Given the description of an element on the screen output the (x, y) to click on. 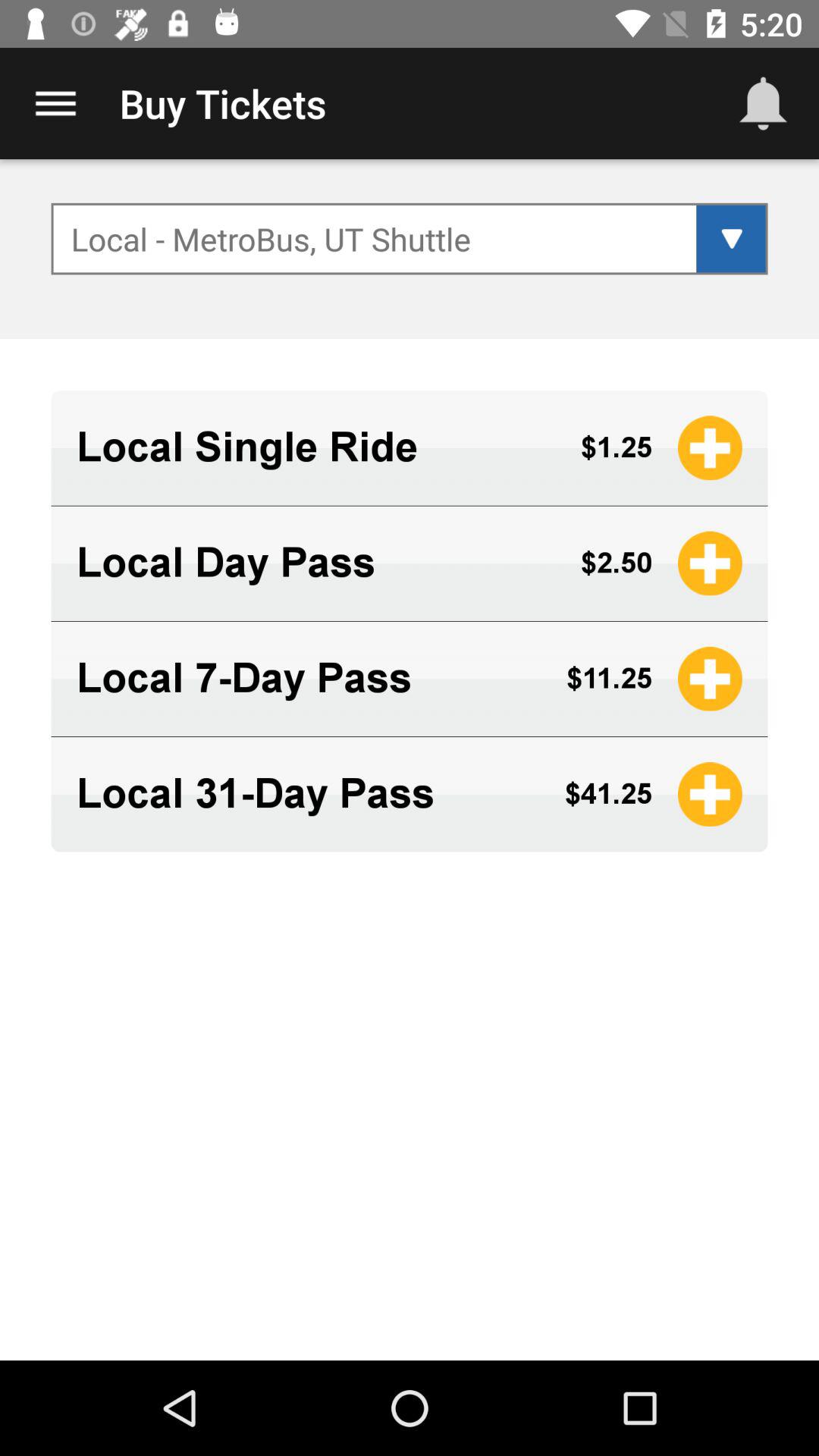
turn on the app below local metrobus ut icon (315, 447)
